Given the description of an element on the screen output the (x, y) to click on. 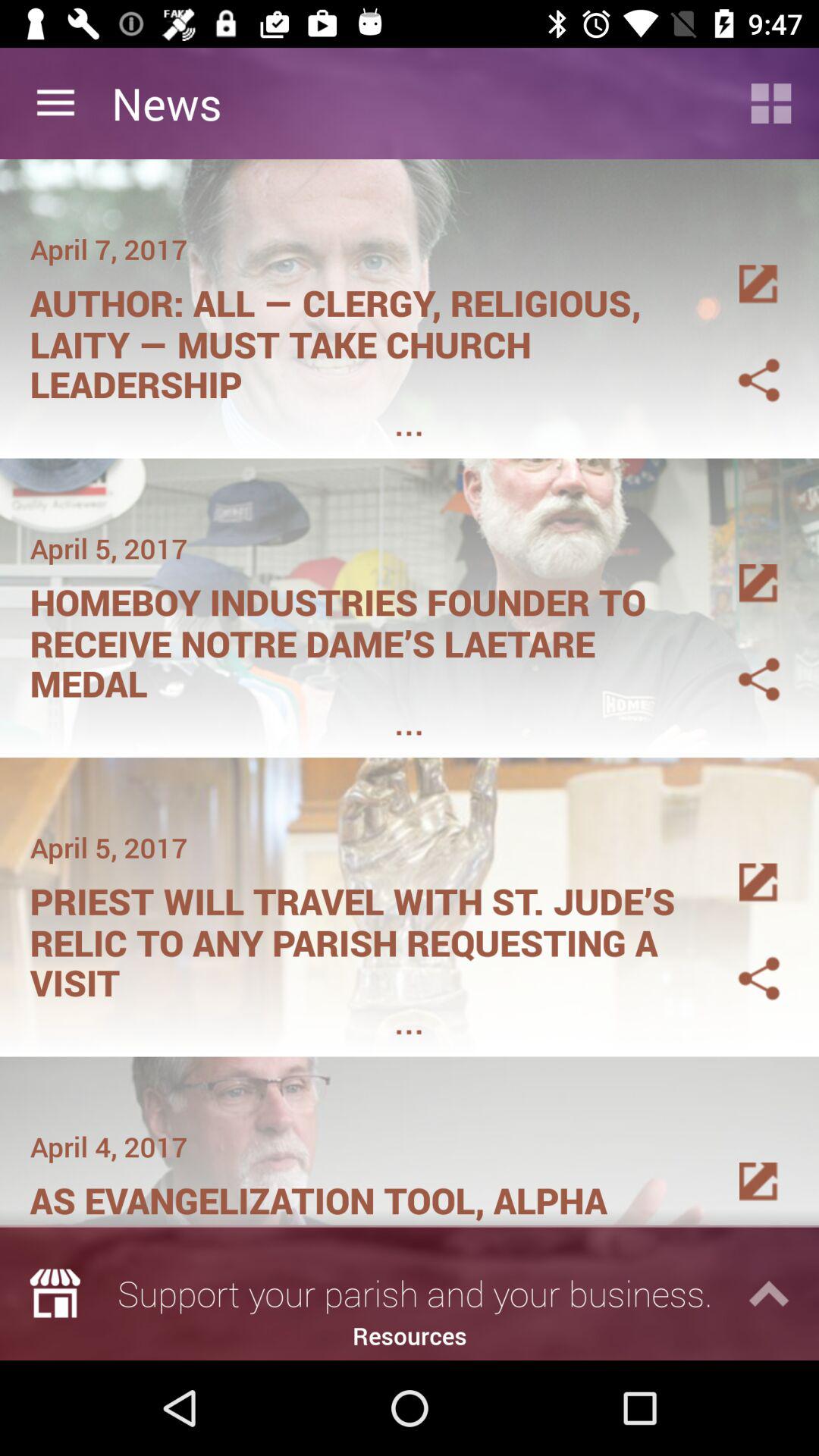
flip until the author all clergy (361, 338)
